Given the description of an element on the screen output the (x, y) to click on. 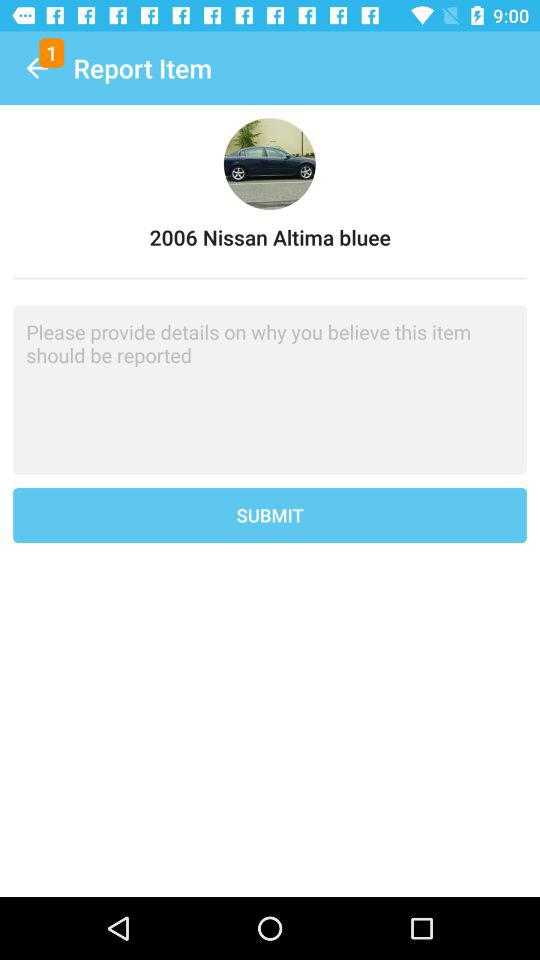
turn off the submit icon (269, 515)
